Given the description of an element on the screen output the (x, y) to click on. 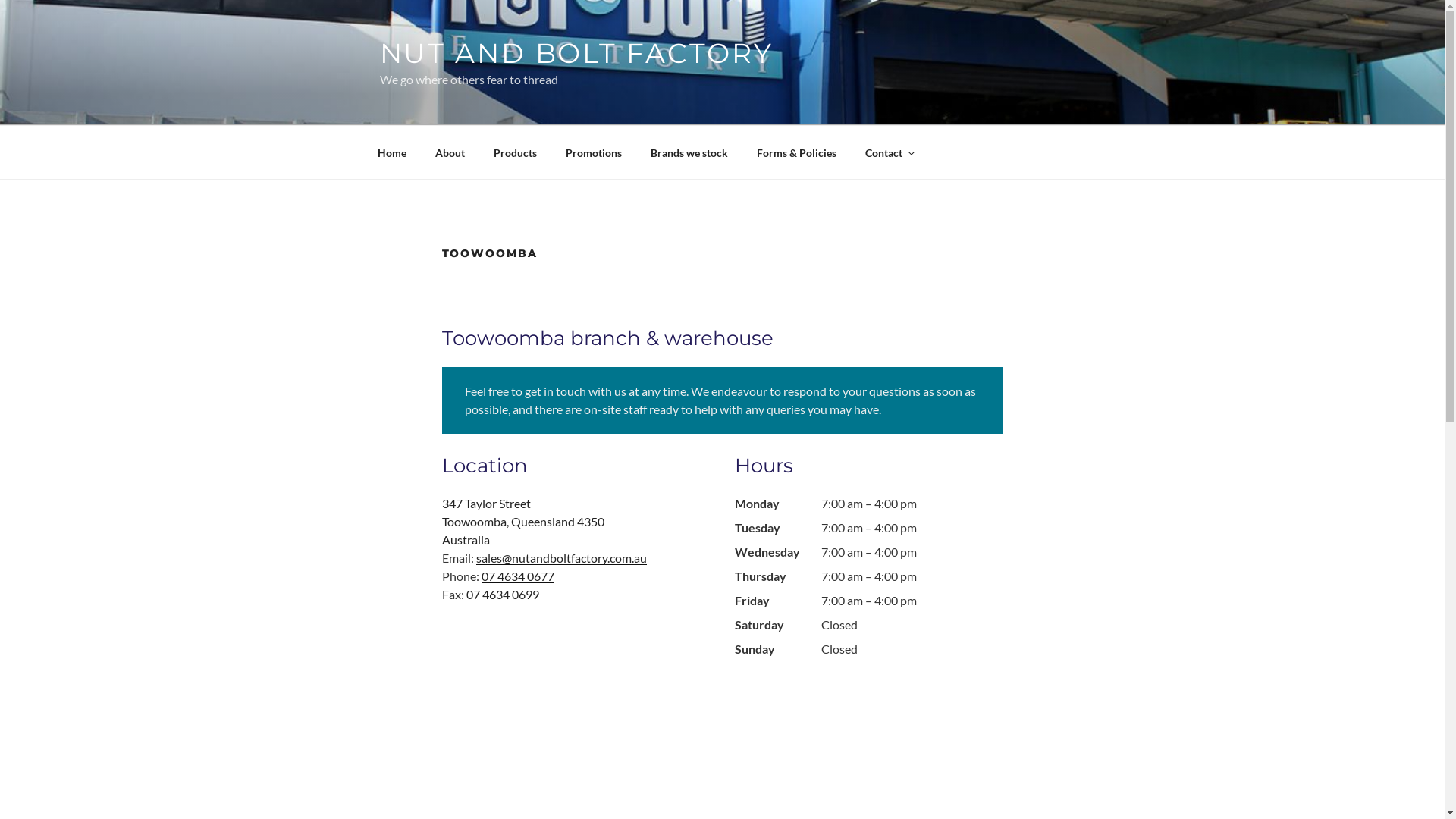
NUT AND BOLT FACTORY Element type: text (576, 52)
07 4634 0677 Element type: text (516, 575)
Products Element type: text (515, 151)
Promotions Element type: text (593, 151)
347 Taylor Street
Toowoomba, Queensland 4350
Australia Element type: text (575, 521)
Home Element type: text (391, 151)
Forms & Policies Element type: text (796, 151)
07 4634 0699 Element type: text (501, 593)
Contact Element type: text (889, 151)
About Element type: text (449, 151)
sales@nutandboltfactory.com.au Element type: text (561, 557)
Brands we stock Element type: text (688, 151)
